Given the description of an element on the screen output the (x, y) to click on. 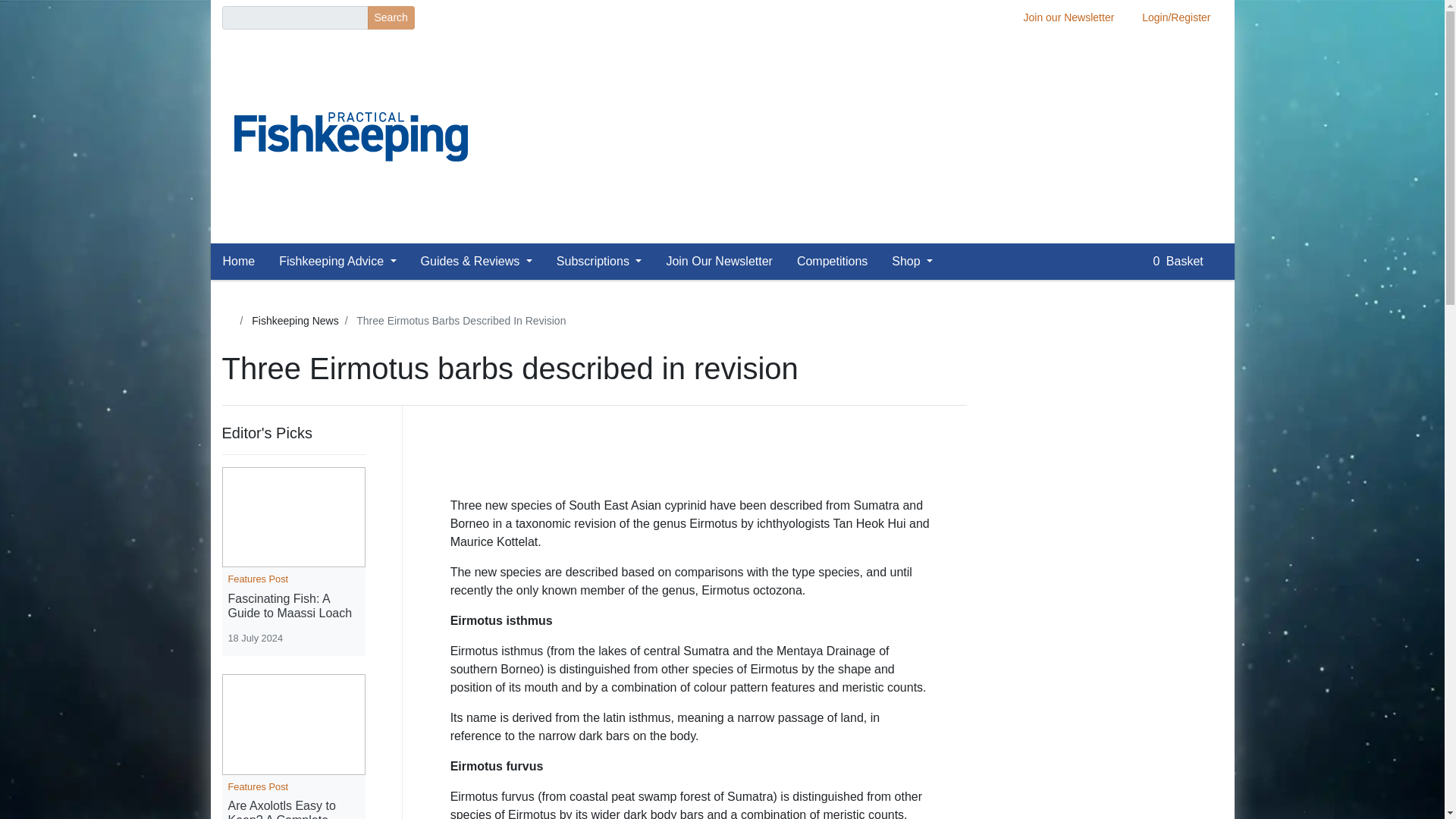
Shop (911, 261)
Search (389, 17)
Home (244, 261)
0 Basket (1187, 261)
Competitions (831, 261)
Join Our Newsletter (718, 261)
Subscriptions (598, 261)
Fishkeeping News (294, 320)
Join our Newsletter (1068, 17)
Fascinating Fish: A Guide to Maassi Loach (292, 605)
Fishkeeping Advice (336, 261)
